Given the description of an element on the screen output the (x, y) to click on. 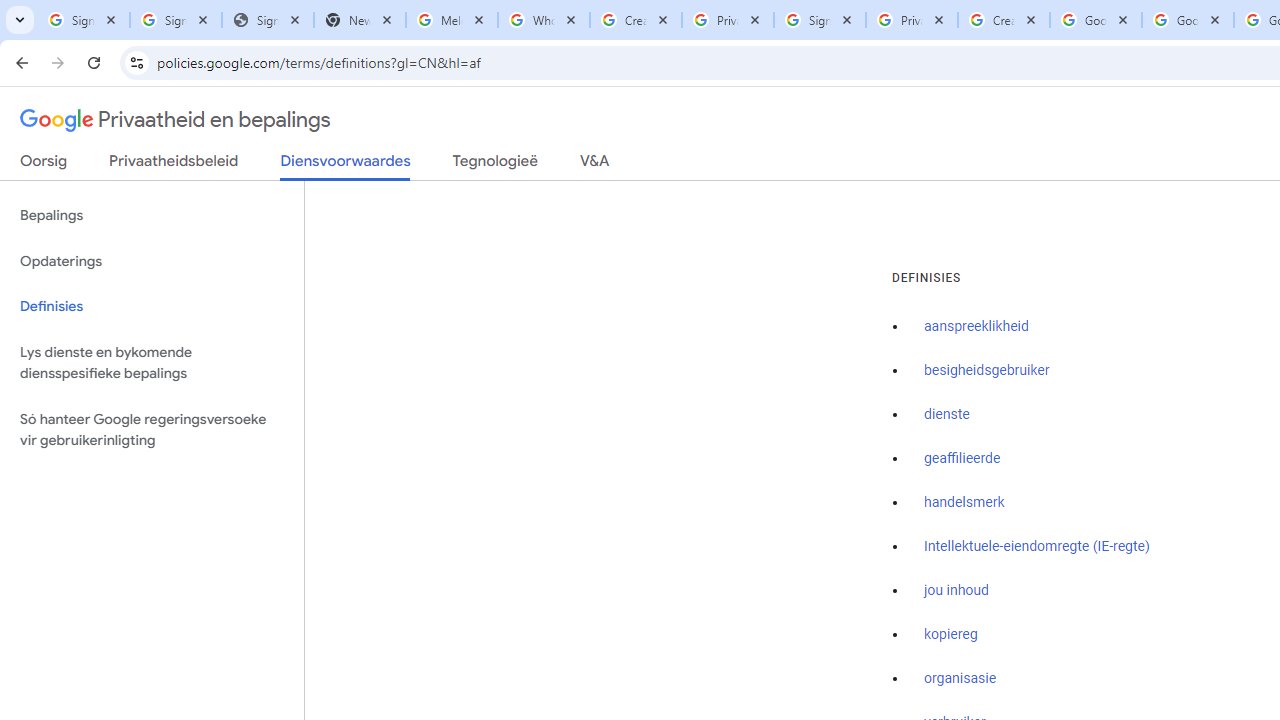
jou inhoud (956, 590)
Bepalings (152, 215)
handelsmerk (964, 502)
Create your Google Account (1003, 20)
V&A (594, 165)
Who is my administrator? - Google Account Help (543, 20)
Privaatheid en bepalings (175, 120)
New Tab (359, 20)
Oorsig (43, 165)
Intellektuele-eiendomregte (IE-regte) (1036, 546)
Sign in - Google Accounts (83, 20)
